Given the description of an element on the screen output the (x, y) to click on. 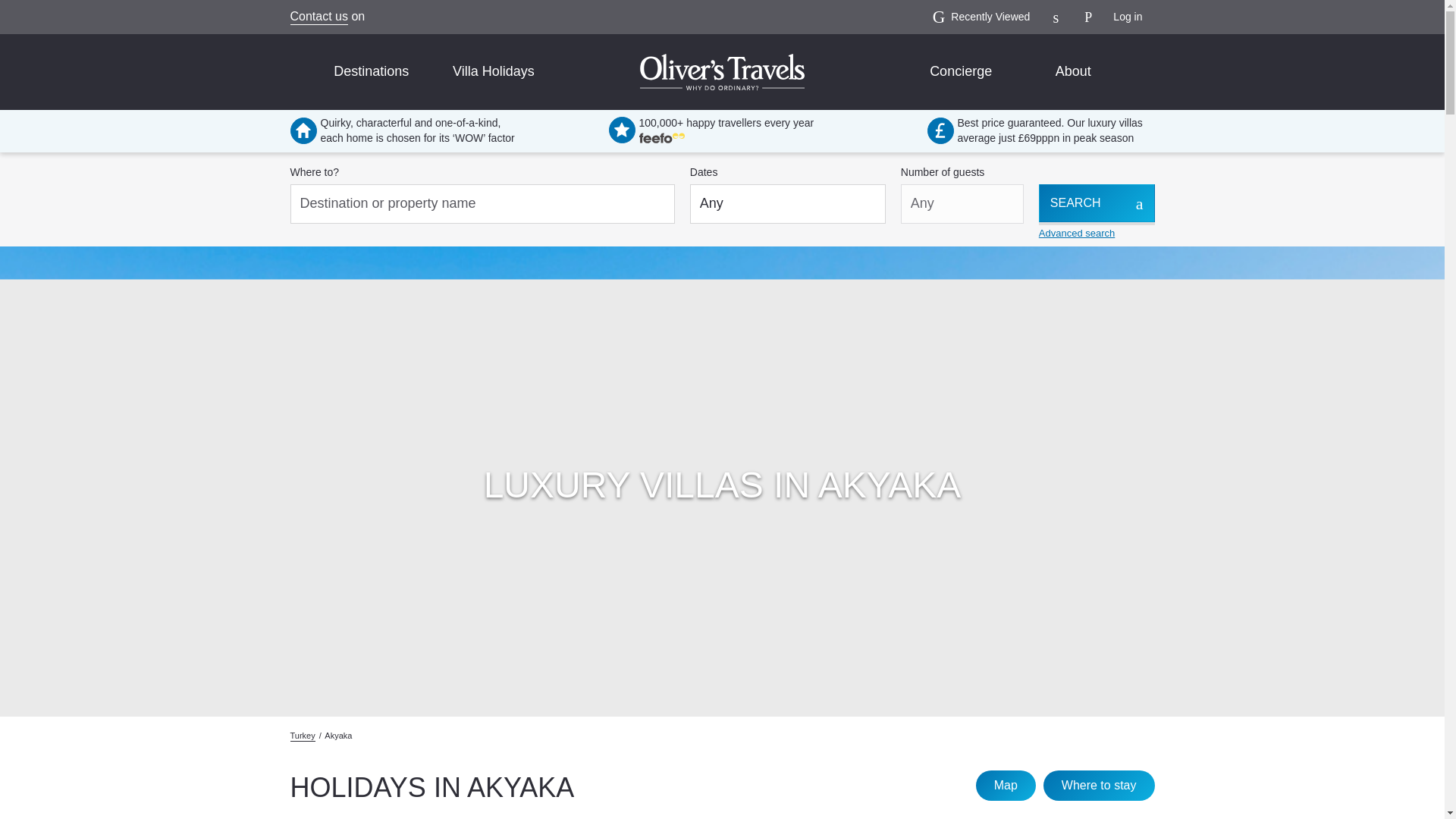
Any (787, 203)
Recently Viewed (981, 16)
Villa Holidays (493, 71)
Destinations (371, 71)
Destinations (371, 71)
